Given the description of an element on the screen output the (x, y) to click on. 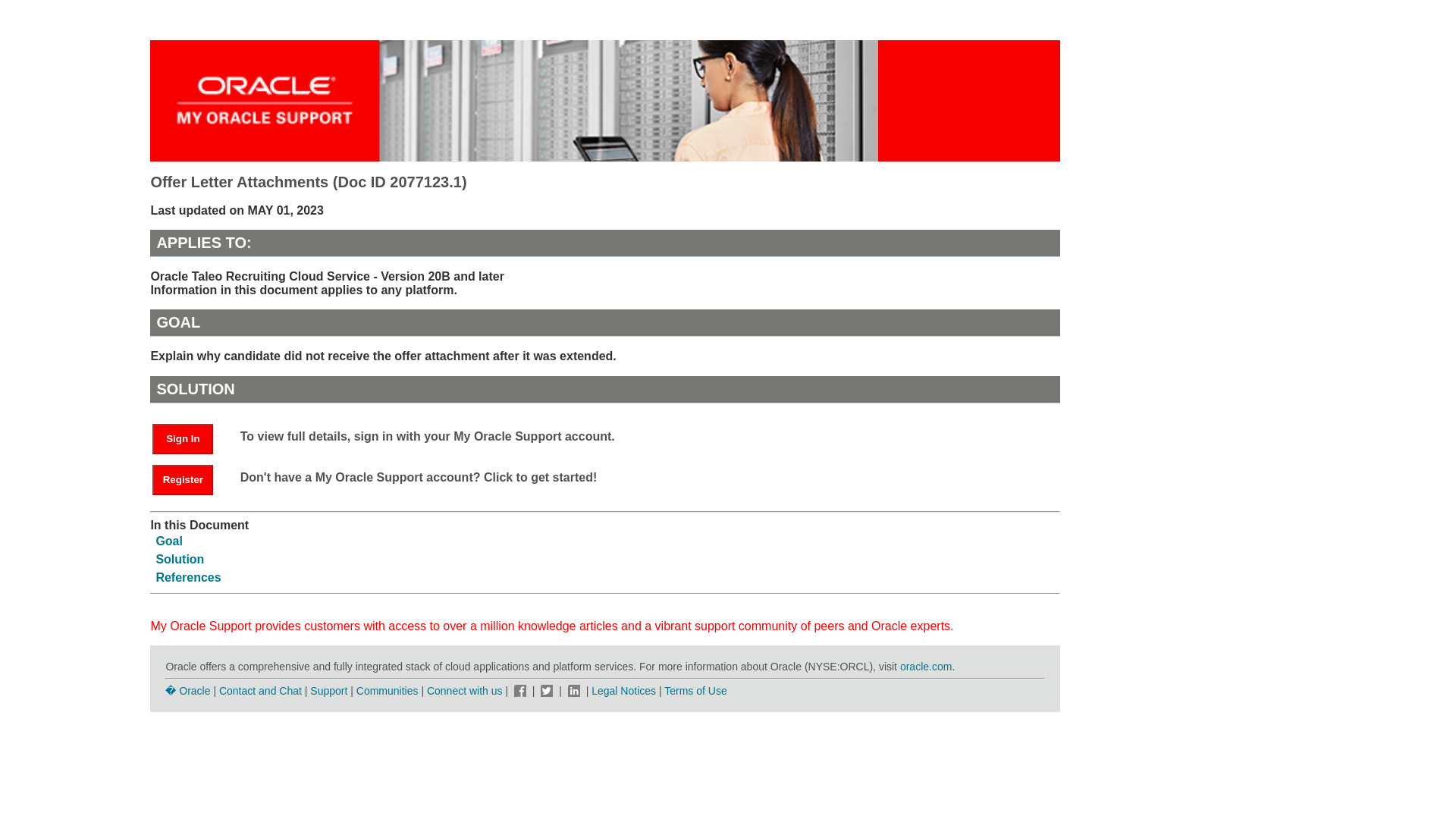
Communities (387, 690)
Terms of Use (694, 690)
Sign In (190, 437)
Support (328, 690)
Connect with us (465, 690)
Sign In (182, 439)
Legal Notices (623, 690)
Register (182, 480)
oracle.com (925, 666)
References (188, 576)
